Given the description of an element on the screen output the (x, y) to click on. 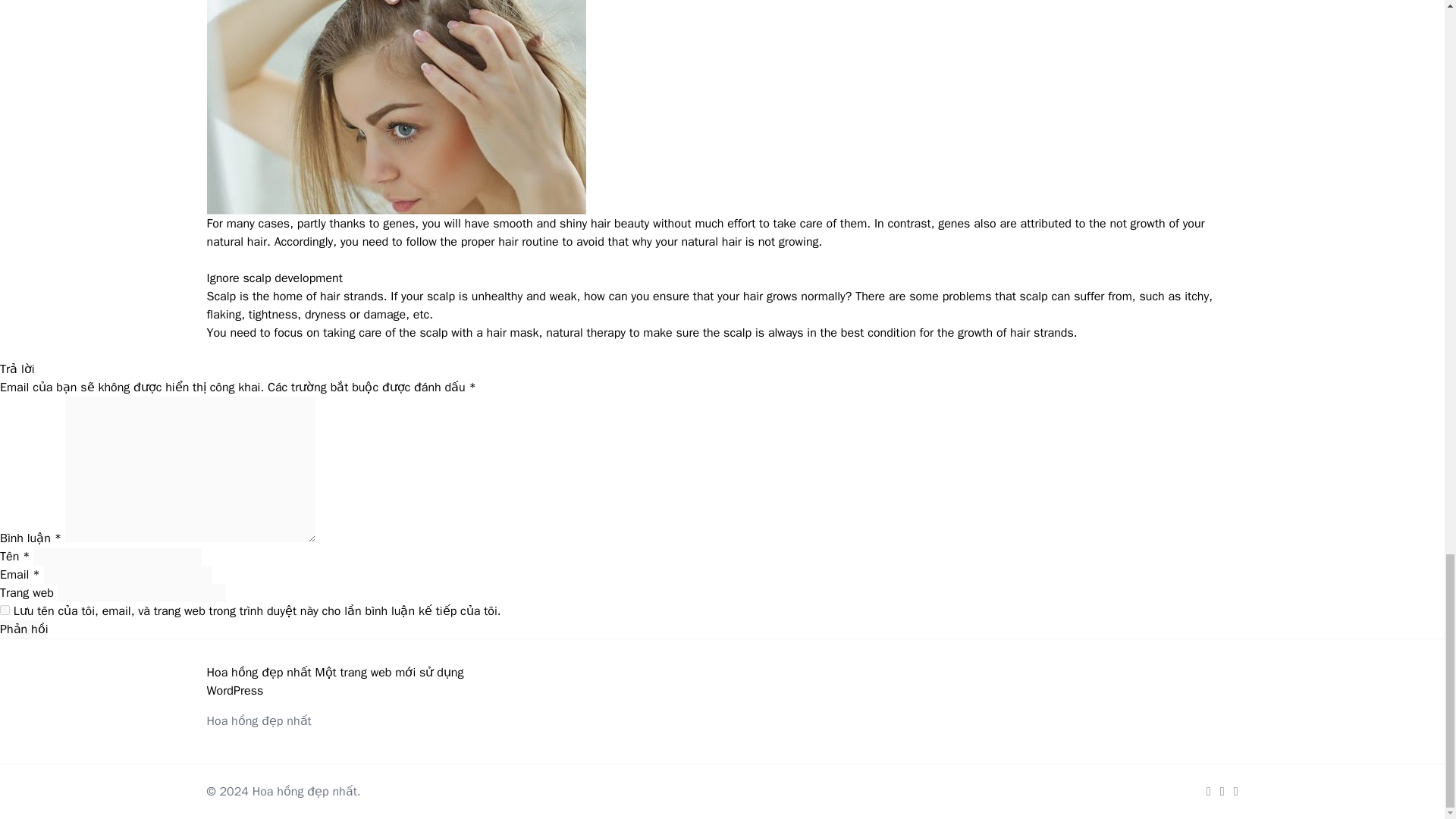
yes (5, 610)
